Given the description of an element on the screen output the (x, y) to click on. 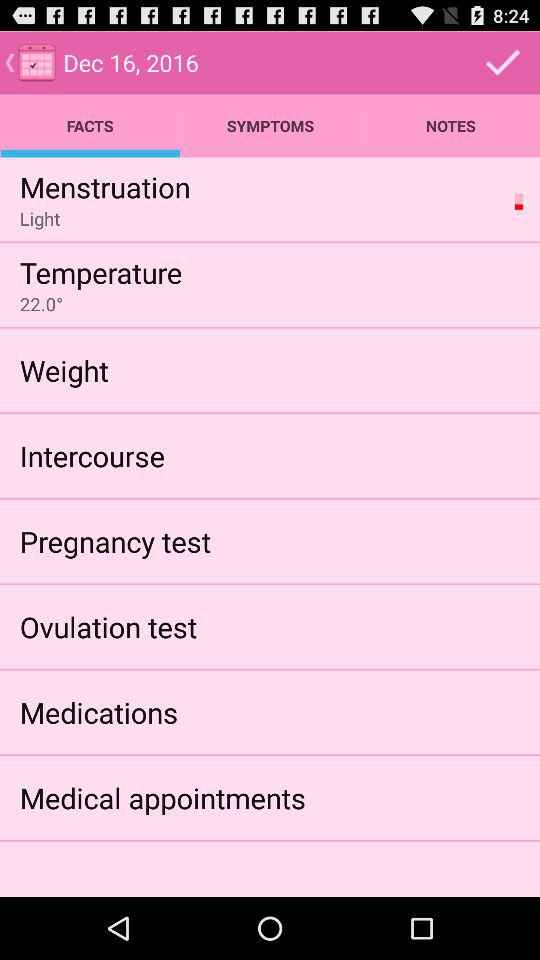
swipe until ovulation test app (108, 626)
